Given the description of an element on the screen output the (x, y) to click on. 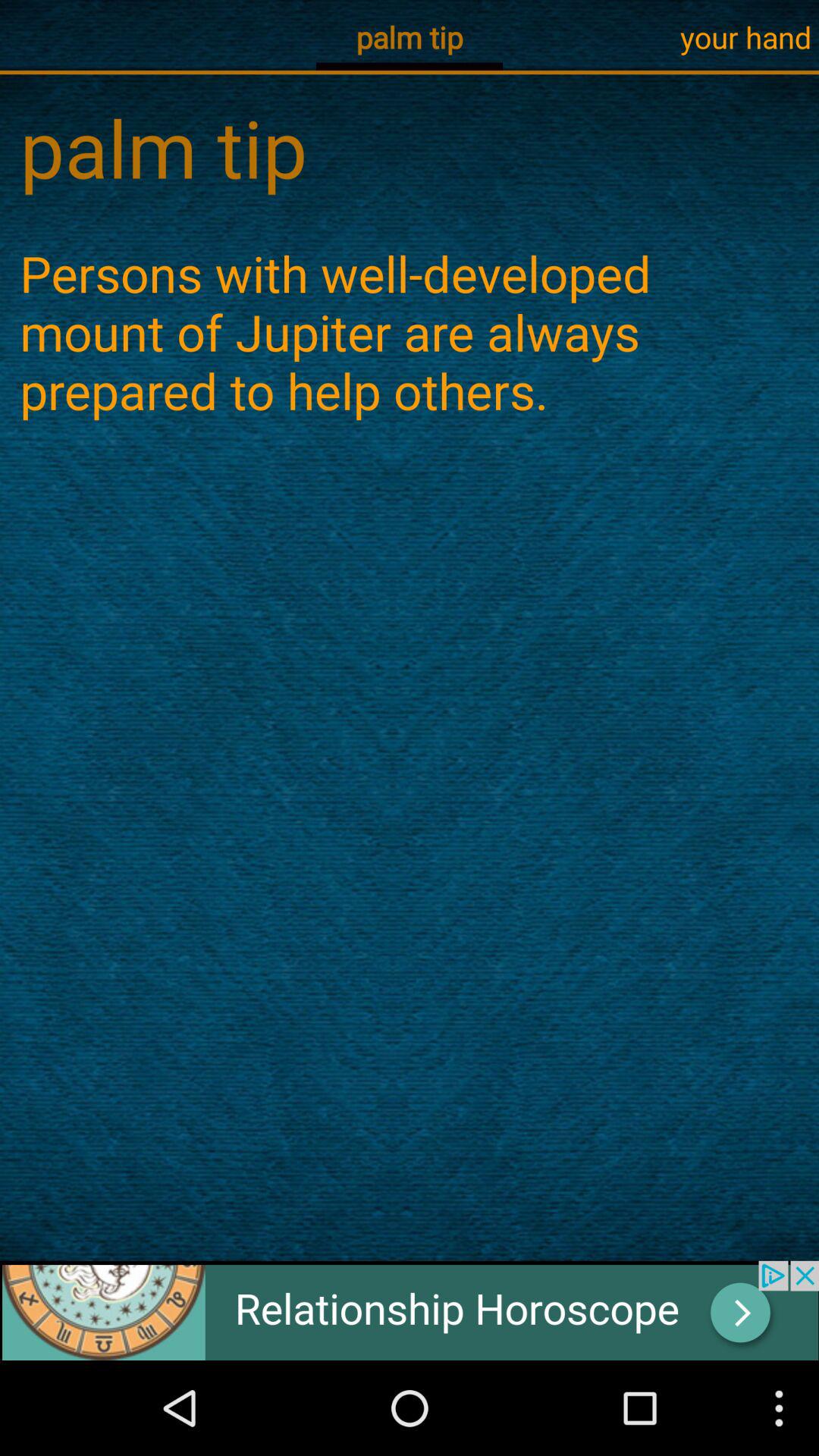
go to the advertisement page (409, 1310)
